Given the description of an element on the screen output the (x, y) to click on. 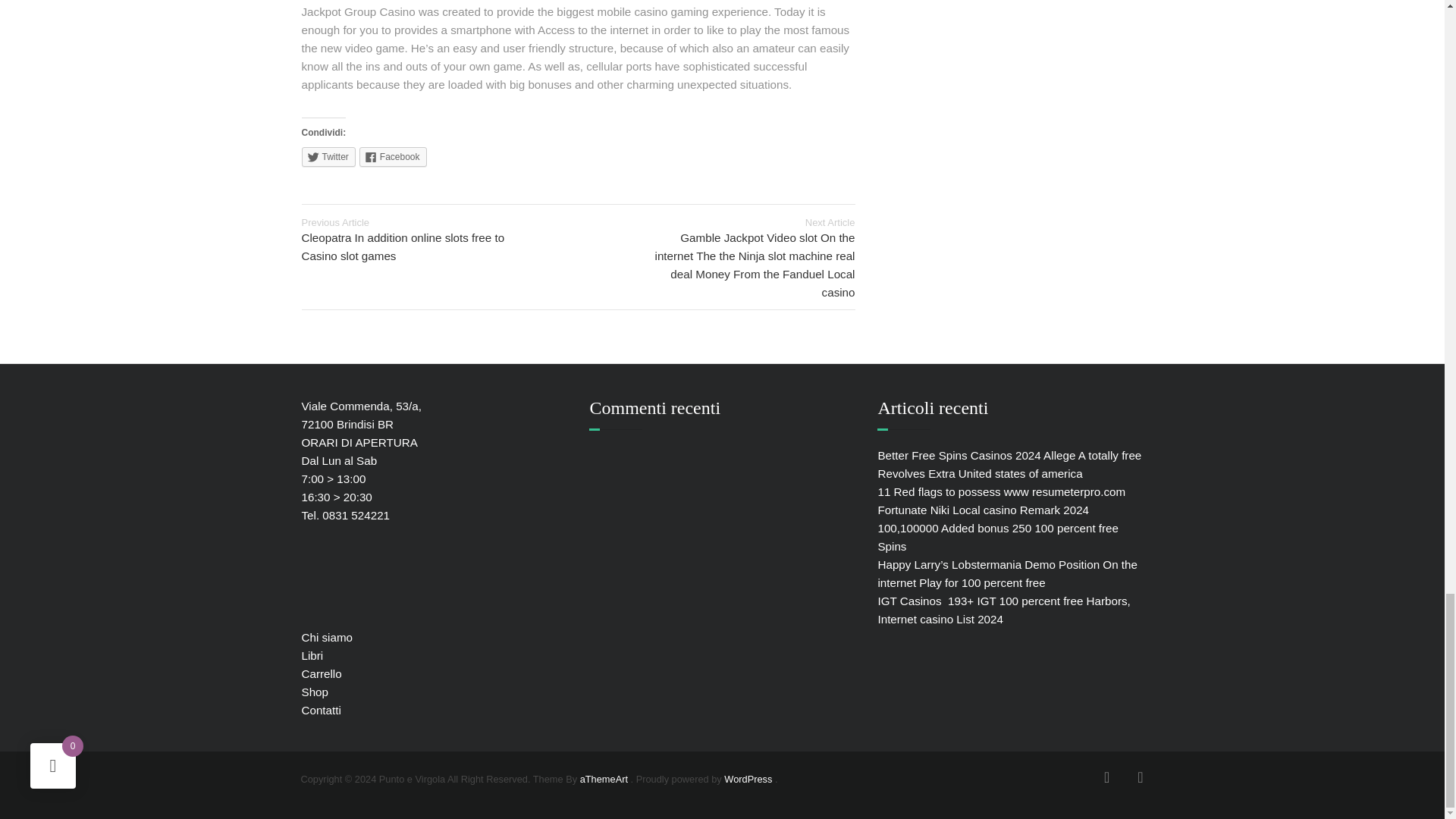
Contatti (320, 709)
Twitter (328, 157)
Cleopatra In addition online slots free to Casino slot games (403, 246)
11 Red flags to possess www resumeterpro.com (1001, 491)
WordPress (747, 778)
Fai clic qui per condividere su Twitter (328, 157)
Carrello (321, 673)
aThemeArt (603, 778)
Fai clic per condividere su Facebook (392, 157)
